Given the description of an element on the screen output the (x, y) to click on. 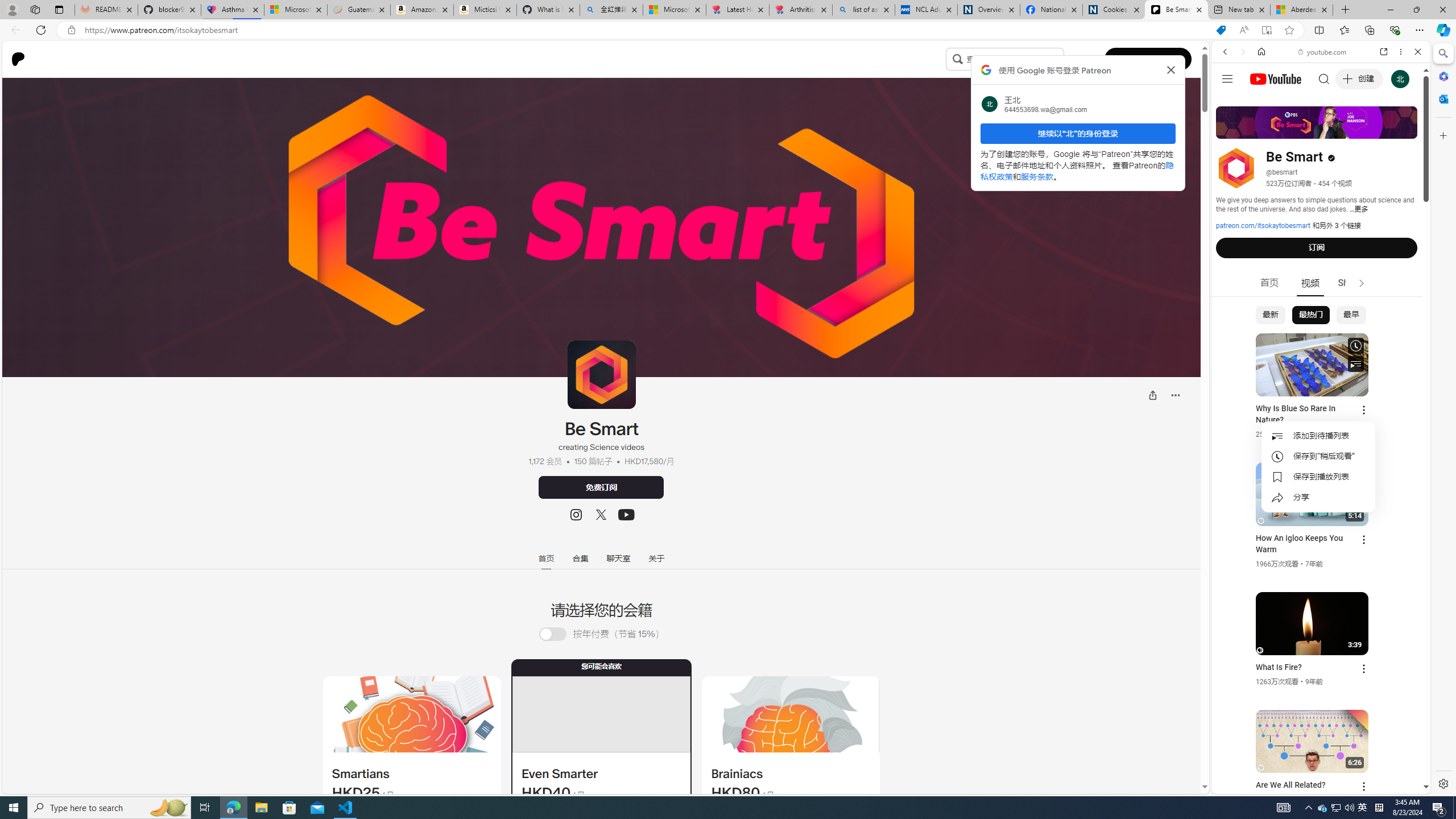
AutomationID: right (1361, 283)
patreon.com/itsokaytobesmart (1262, 225)
